Given the description of an element on the screen output the (x, y) to click on. 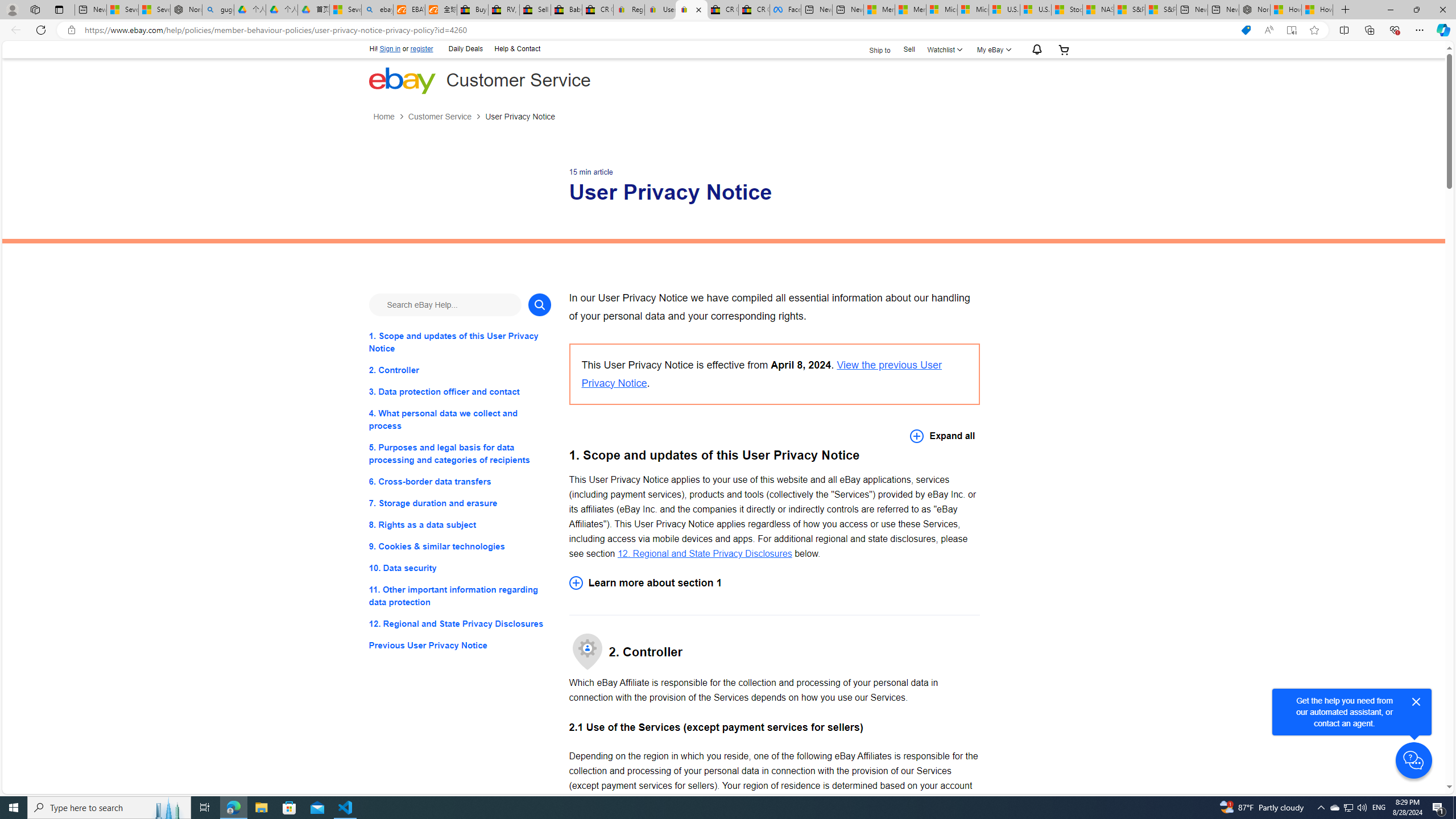
4. What personal data we collect and process (459, 419)
Customer Service (446, 117)
My eBayExpand My eBay (992, 49)
6. Cross-border data transfers (459, 481)
View the previous User Privacy Notice (761, 373)
3. Data protection officer and contact (459, 391)
7. Storage duration and erasure (459, 503)
